Given the description of an element on the screen output the (x, y) to click on. 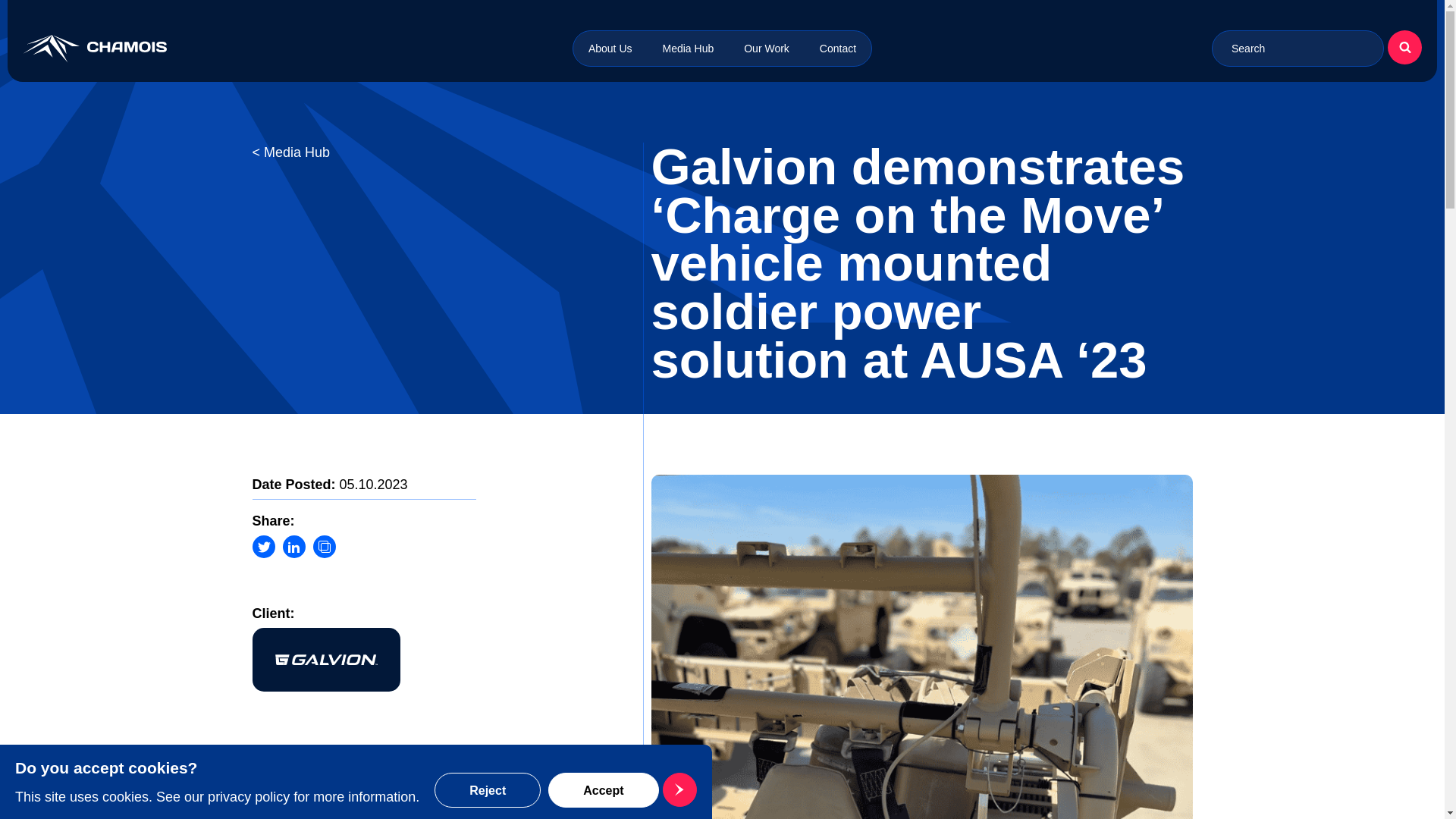
Reject (486, 790)
Our Work (766, 48)
Media Hub (688, 48)
About Us (609, 48)
Accept (620, 790)
Contact (837, 48)
